Given the description of an element on the screen output the (x, y) to click on. 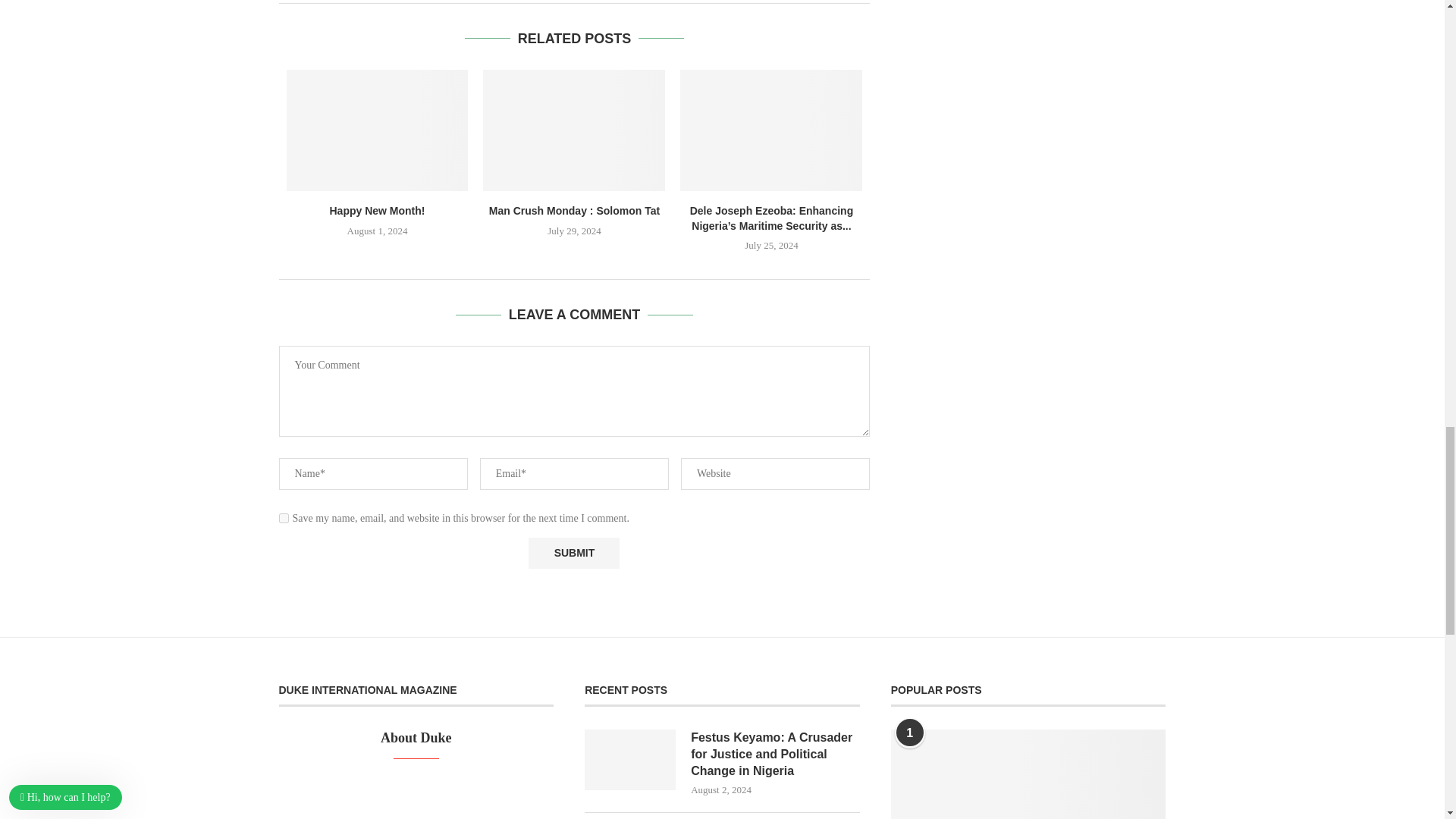
yes (283, 518)
Submit (574, 552)
